Given the description of an element on the screen output the (x, y) to click on. 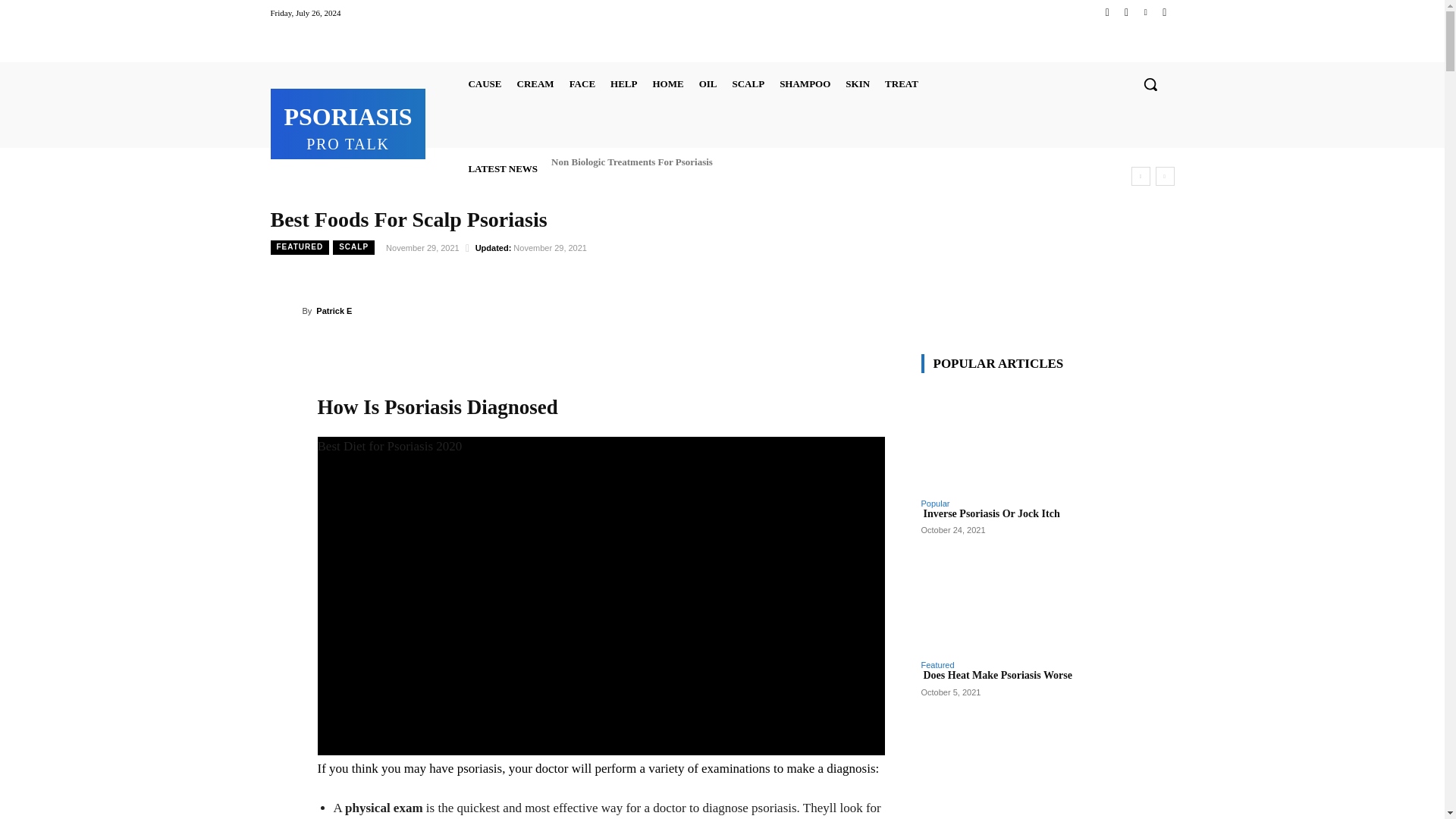
Facebook (1106, 12)
